Given the description of an element on the screen output the (x, y) to click on. 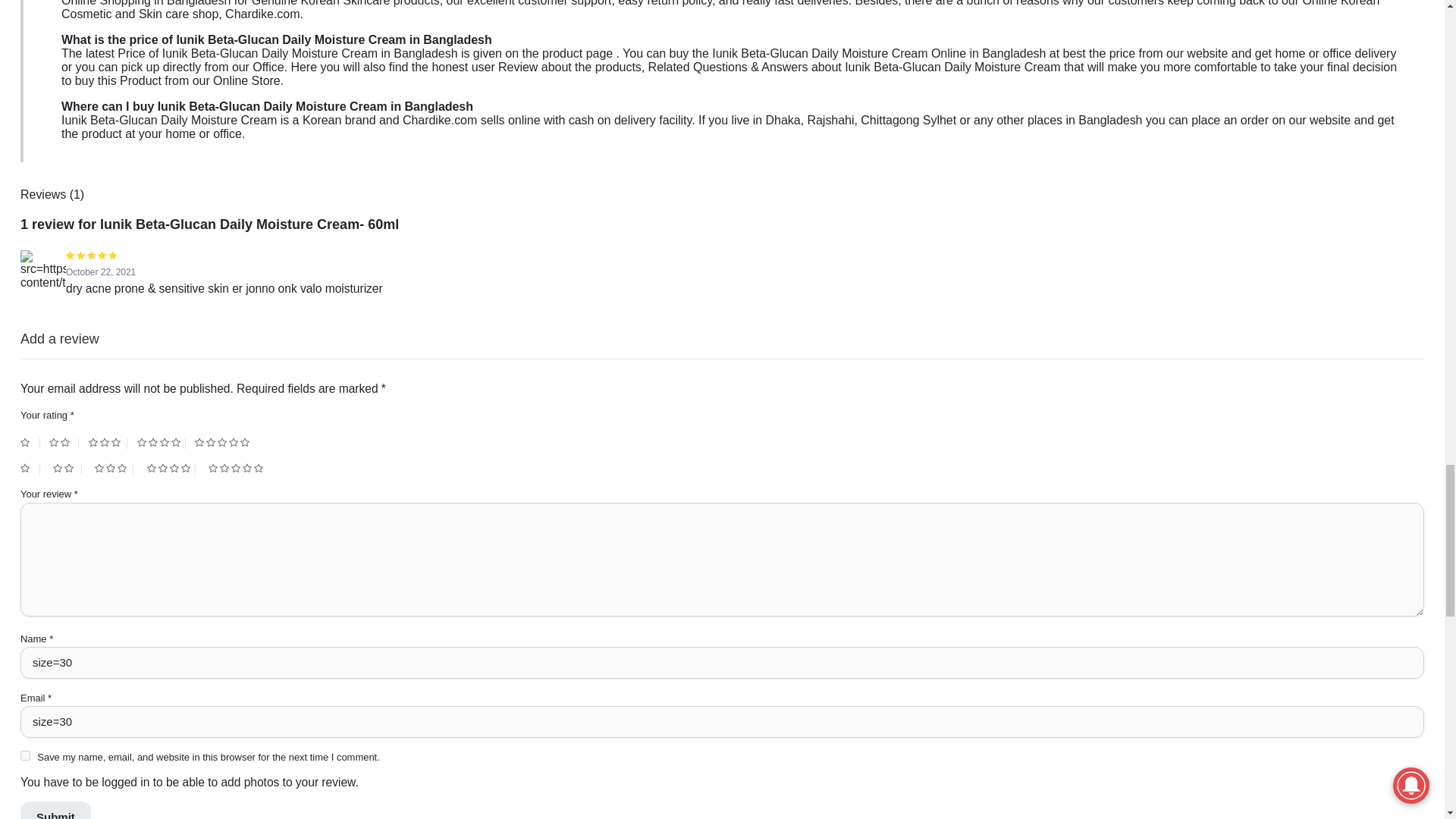
Submit (55, 810)
1 (30, 442)
3 (108, 442)
2 (63, 442)
yes (25, 755)
